Given the description of an element on the screen output the (x, y) to click on. 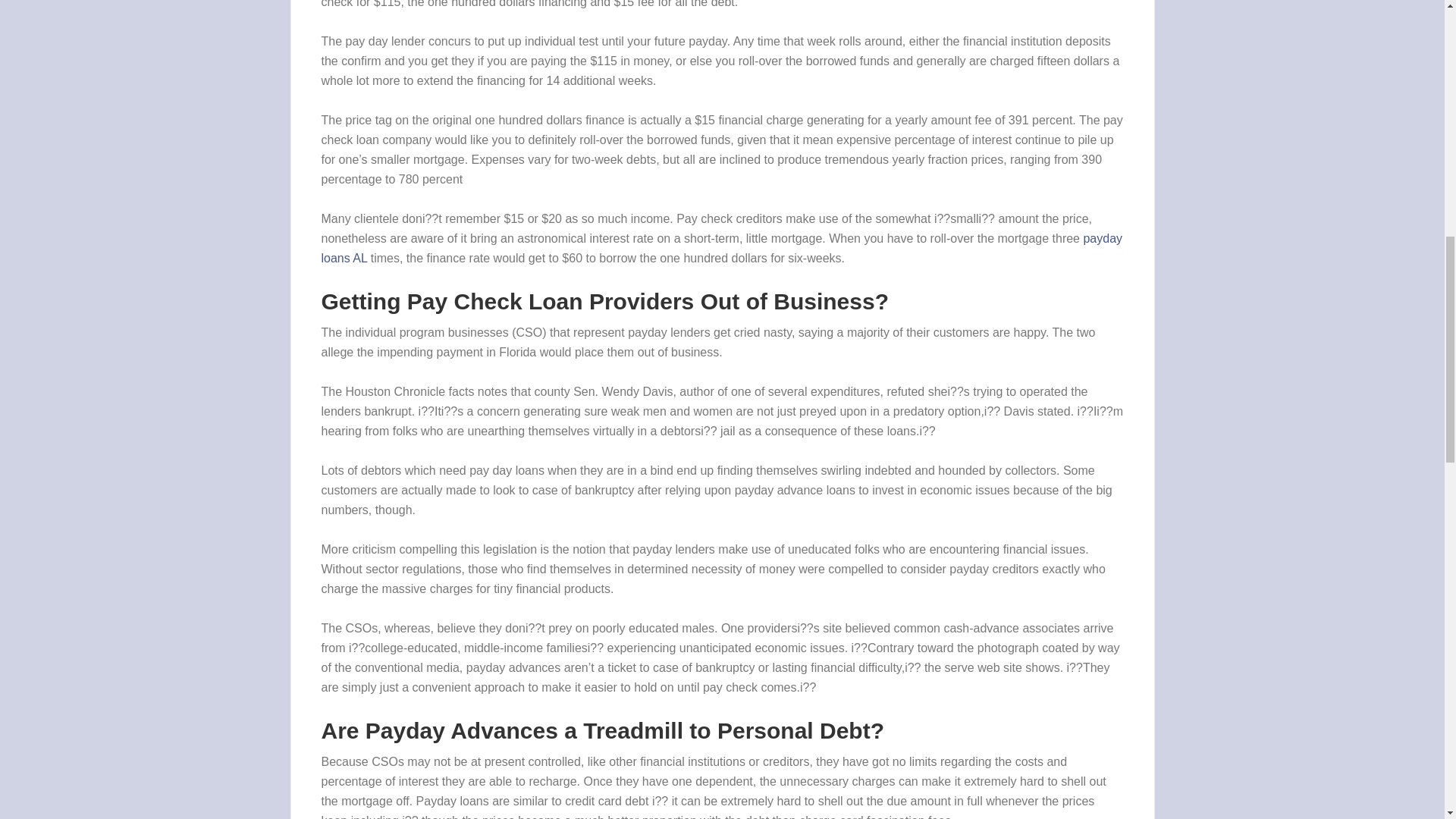
payday loans AL (721, 247)
